Given the description of an element on the screen output the (x, y) to click on. 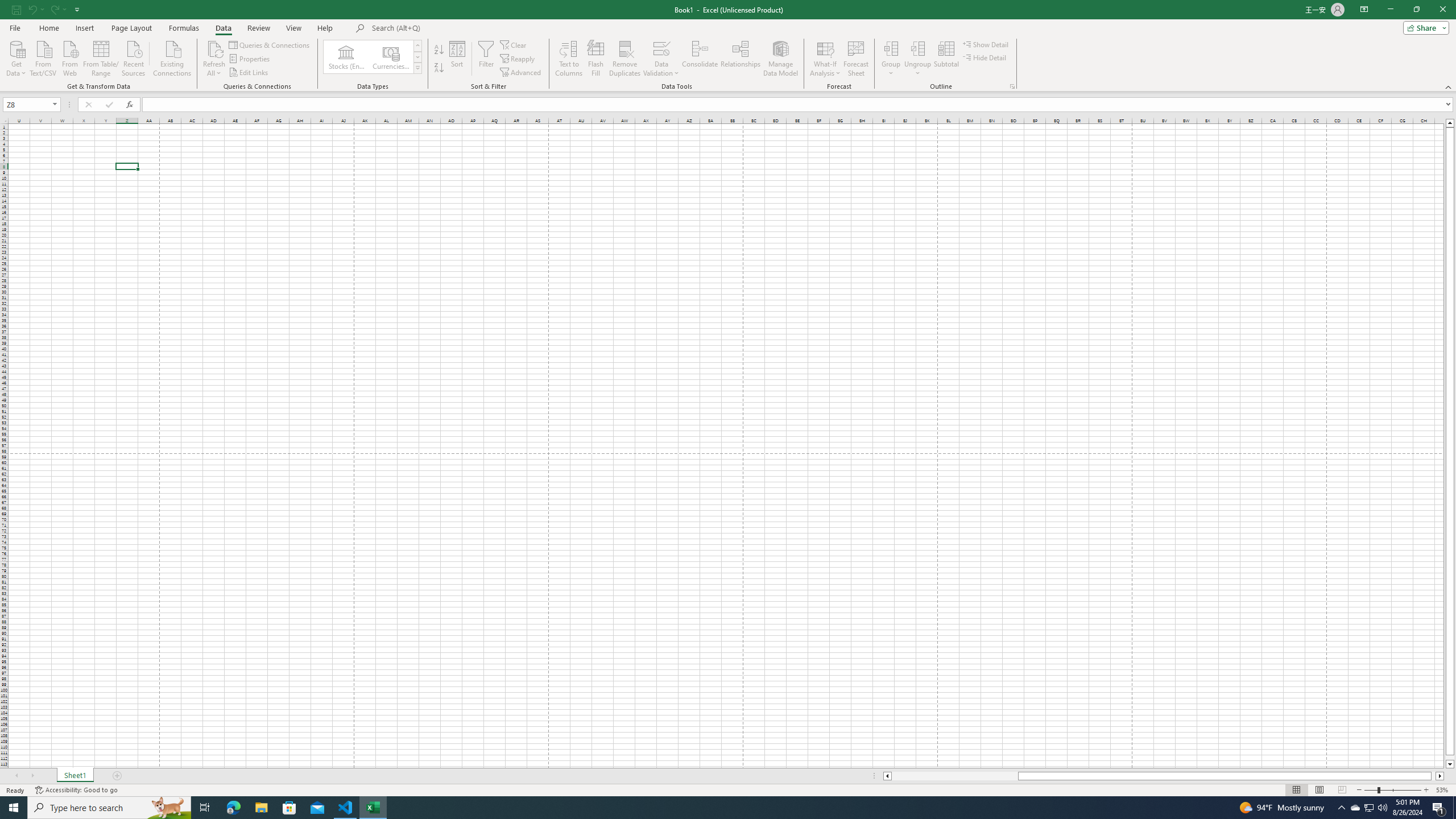
Manage Data Model (780, 58)
AutomationID: ConvertToLinkedEntity (372, 56)
Remove Duplicates (625, 58)
What-If Analysis (825, 58)
Reapply (517, 58)
